Given the description of an element on the screen output the (x, y) to click on. 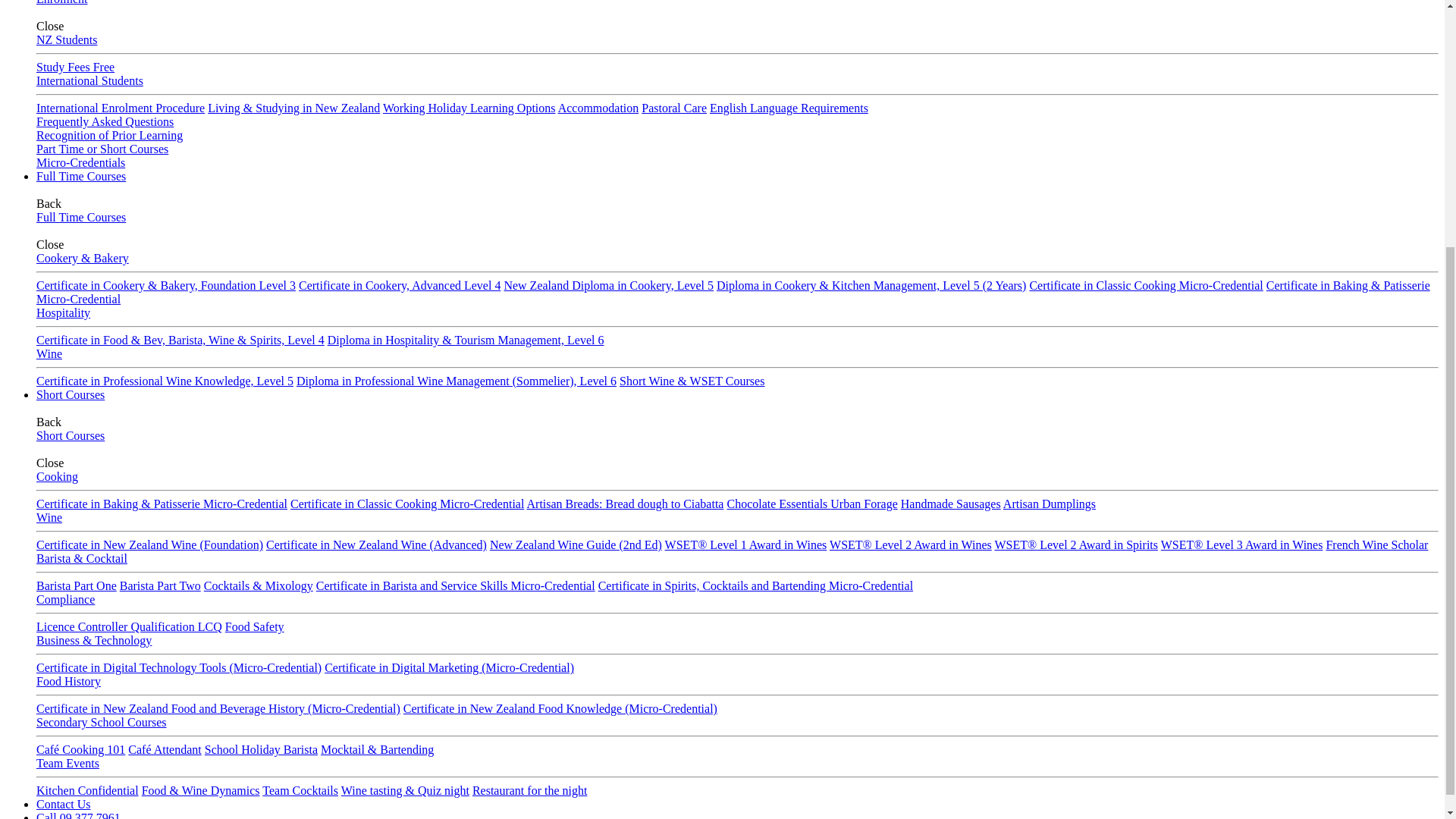
International Enrolment Procedure (120, 107)
Accommodation (598, 107)
Pastoral Care (674, 107)
Frequently Asked Questions (104, 121)
International Students (89, 80)
Micro-Credentials (80, 162)
Enrolment (61, 2)
Full Time Courses (80, 175)
English Language Requirements (788, 107)
NZ Students (66, 39)
